Given the description of an element on the screen output the (x, y) to click on. 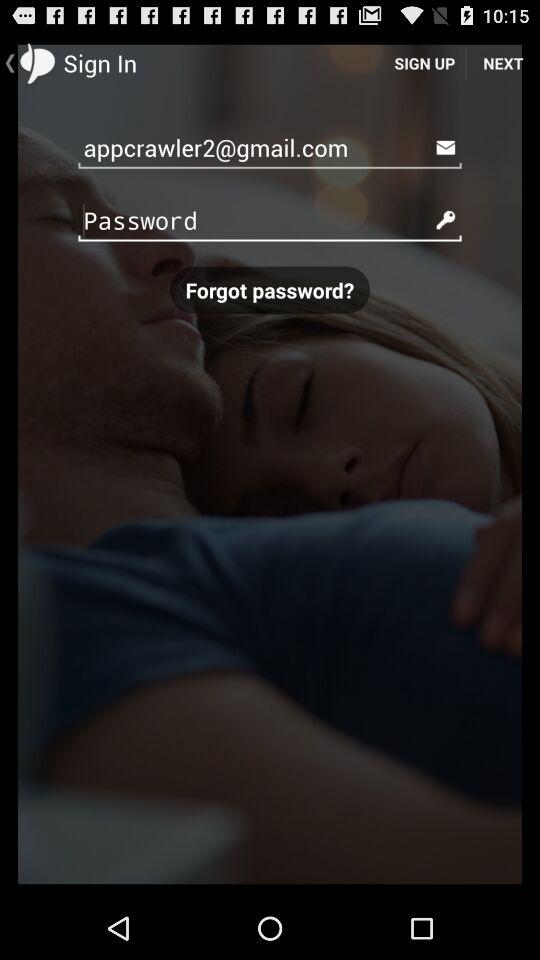
select the item below the appcrawler2@gmail.com icon (269, 219)
